Given the description of an element on the screen output the (x, y) to click on. 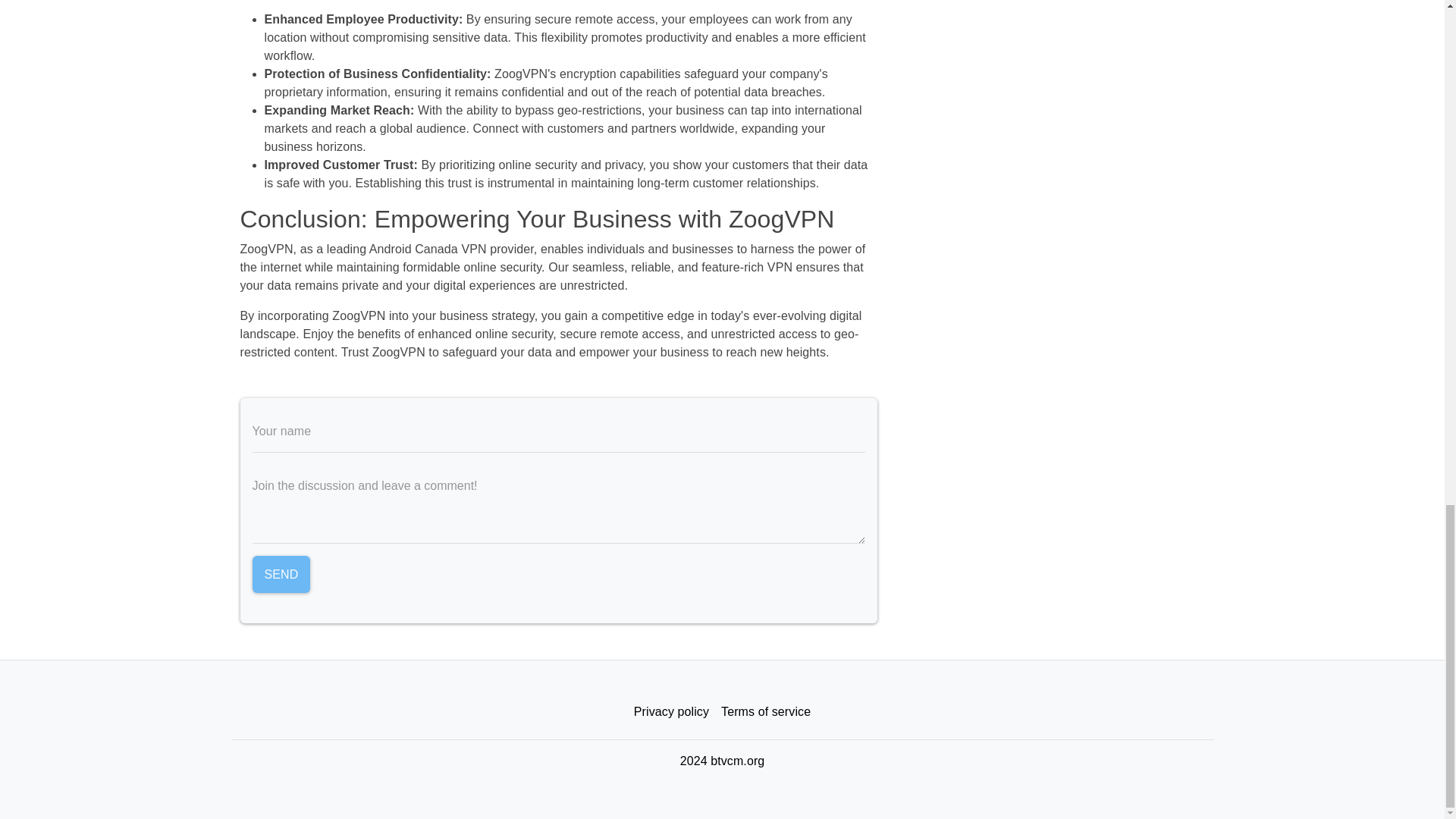
Terms of service (765, 711)
Send (280, 574)
Privacy policy (670, 711)
Send (280, 574)
